Given the description of an element on the screen output the (x, y) to click on. 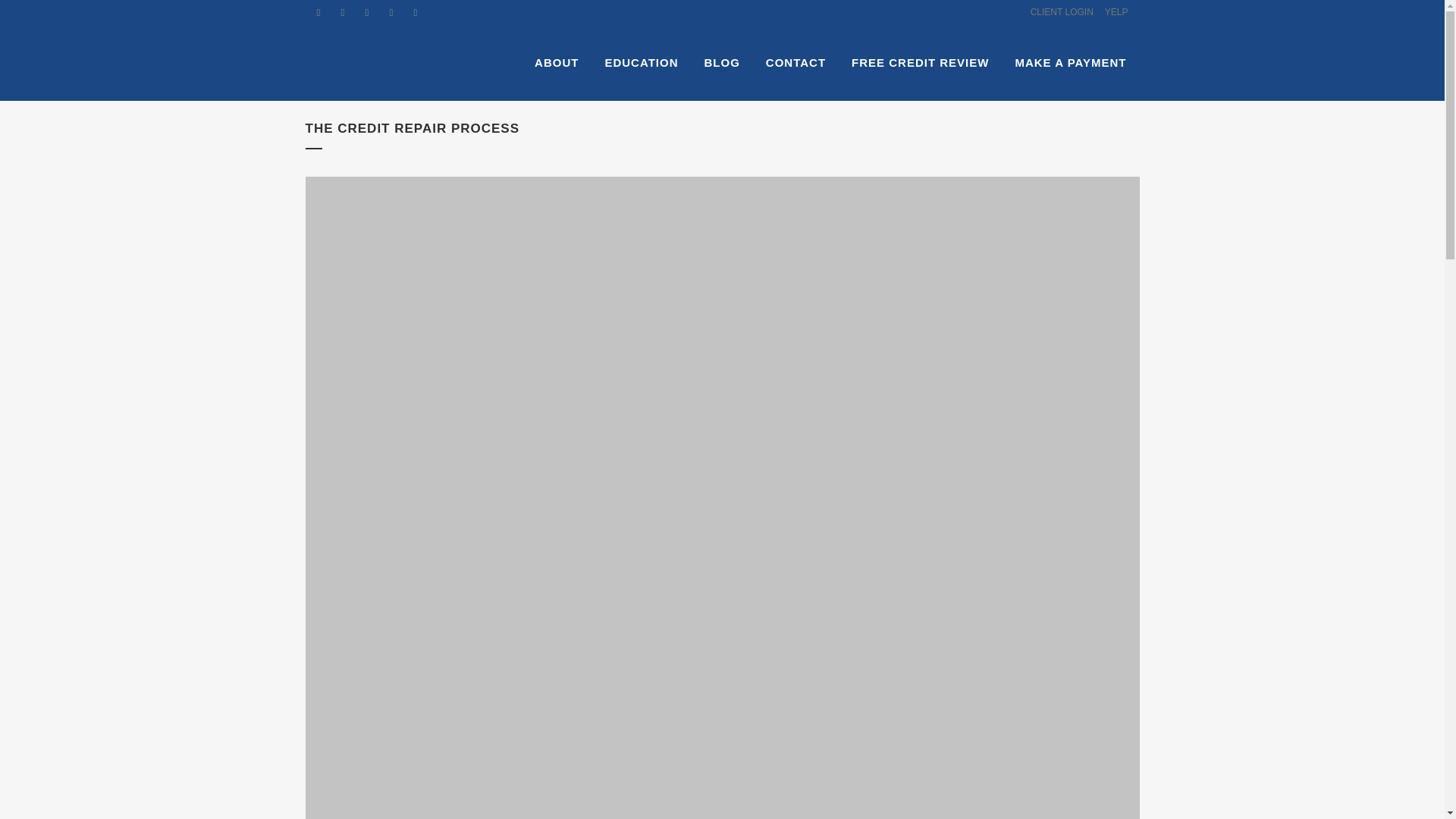
ABOUT (556, 62)
CLIENT LOGIN (1056, 12)
YELP (1110, 12)
MAKE A PAYMENT (1069, 62)
FREE CREDIT REVIEW (919, 62)
EDUCATION (640, 62)
CONTACT (795, 62)
